Given the description of an element on the screen output the (x, y) to click on. 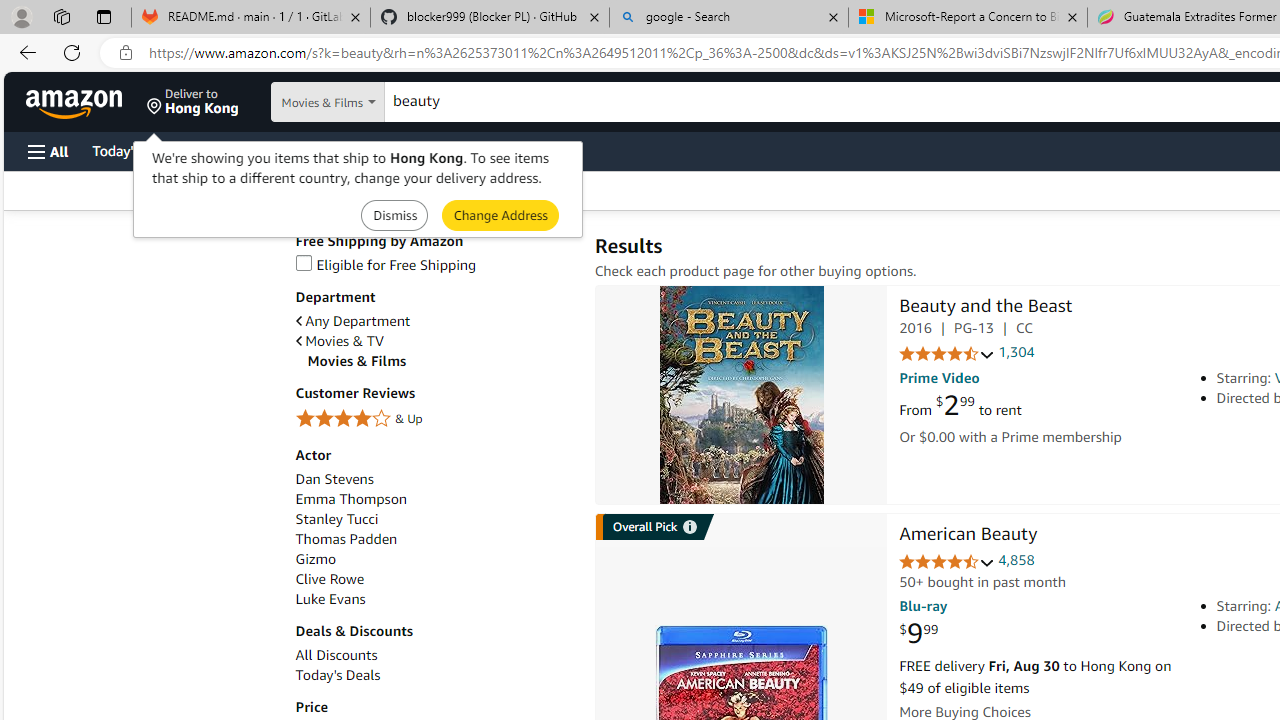
Customer Service (256, 150)
4 Stars & Up (434, 419)
Luke Evans (330, 599)
4 Stars & Up& Up (434, 420)
Thomas Padden (346, 538)
Registry (360, 150)
Any Department (352, 321)
Stanley Tucci (434, 519)
Today's Deals (337, 675)
Emma Thompson (434, 499)
Deliver to Hong Kong (193, 101)
All Discounts (434, 655)
Eligible for Free Shipping (434, 265)
